Given the description of an element on the screen output the (x, y) to click on. 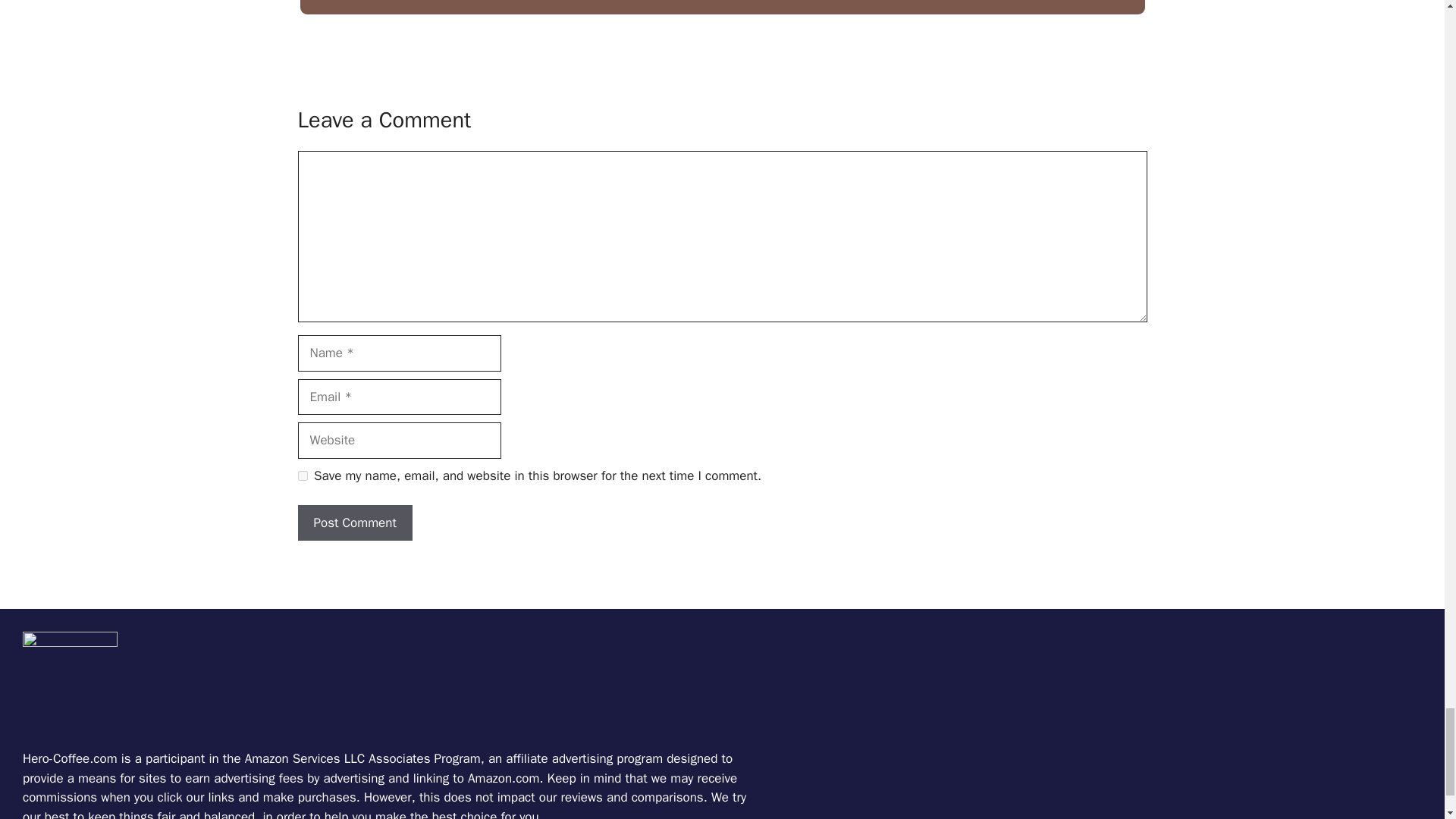
Post Comment (354, 523)
Post Comment (354, 523)
yes (302, 475)
